Given the description of an element on the screen output the (x, y) to click on. 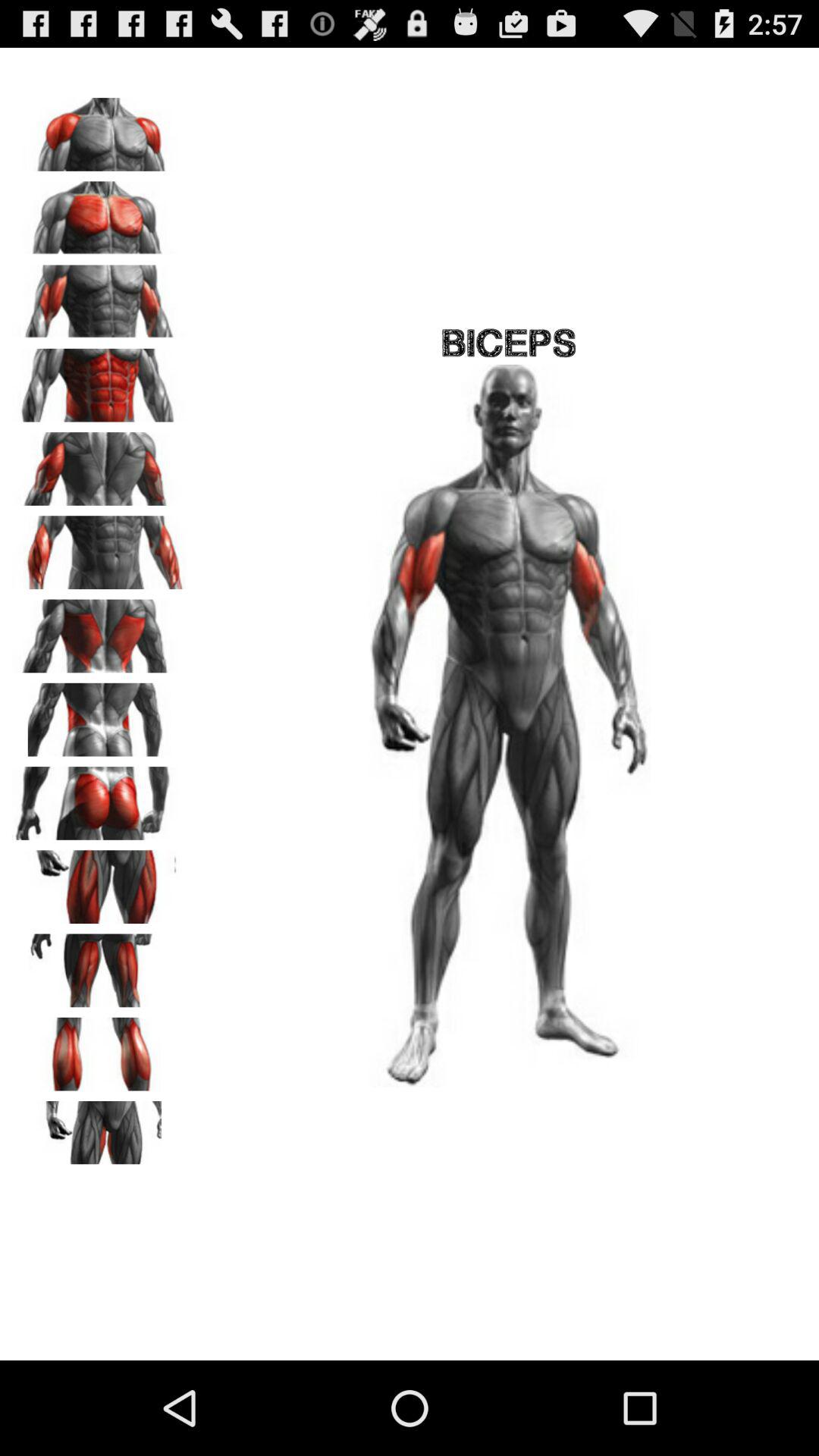
select this muscle set (99, 881)
